Given the description of an element on the screen output the (x, y) to click on. 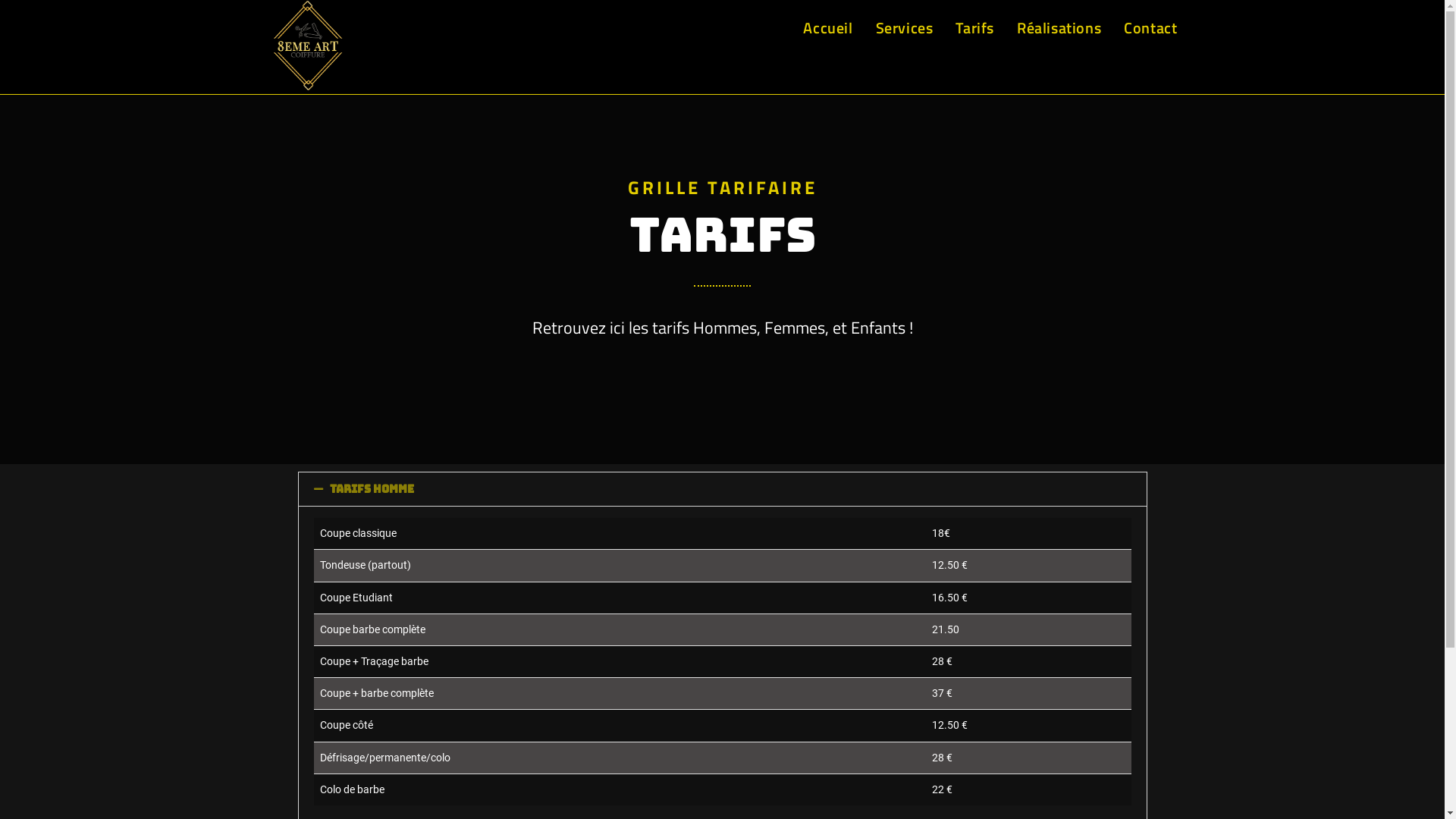
TARIFS HOMME Element type: text (371, 488)
Services Element type: text (904, 28)
Tarifs Element type: text (974, 28)
Accueil Element type: text (827, 28)
Contact Element type: text (1150, 28)
